Given the description of an element on the screen output the (x, y) to click on. 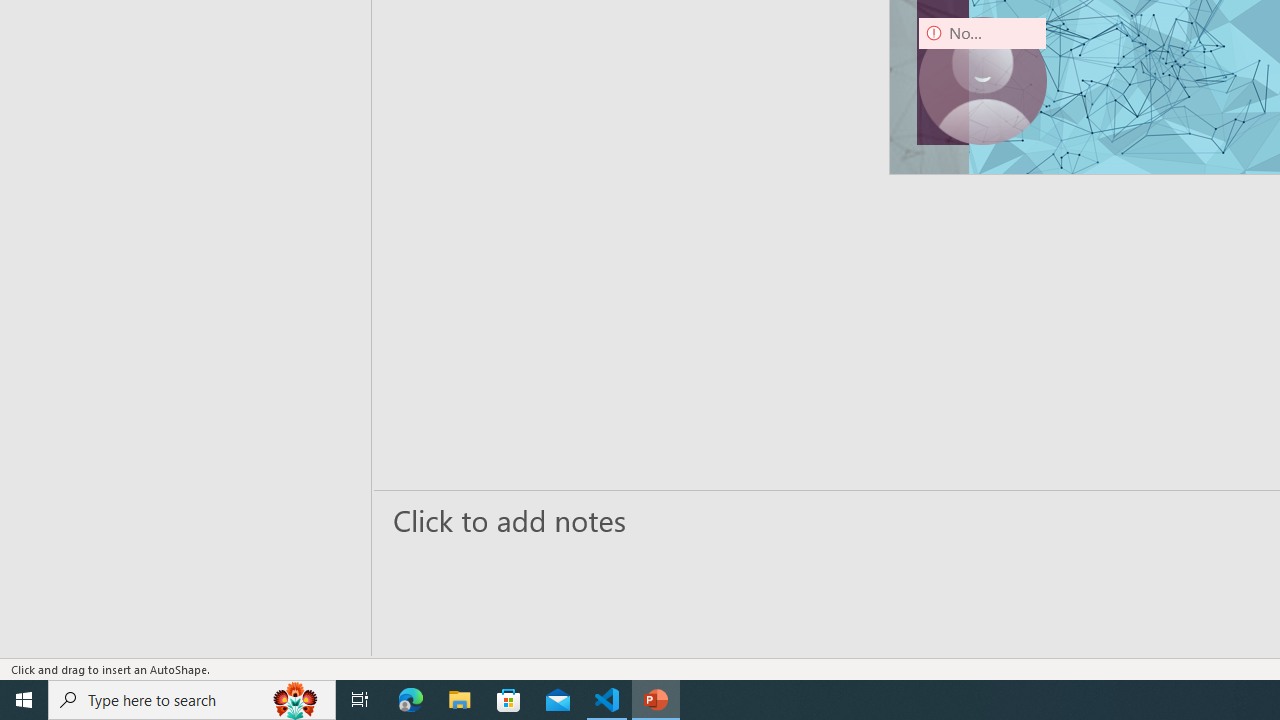
Camera 9, No camera detected. (982, 80)
